Given the description of an element on the screen output the (x, y) to click on. 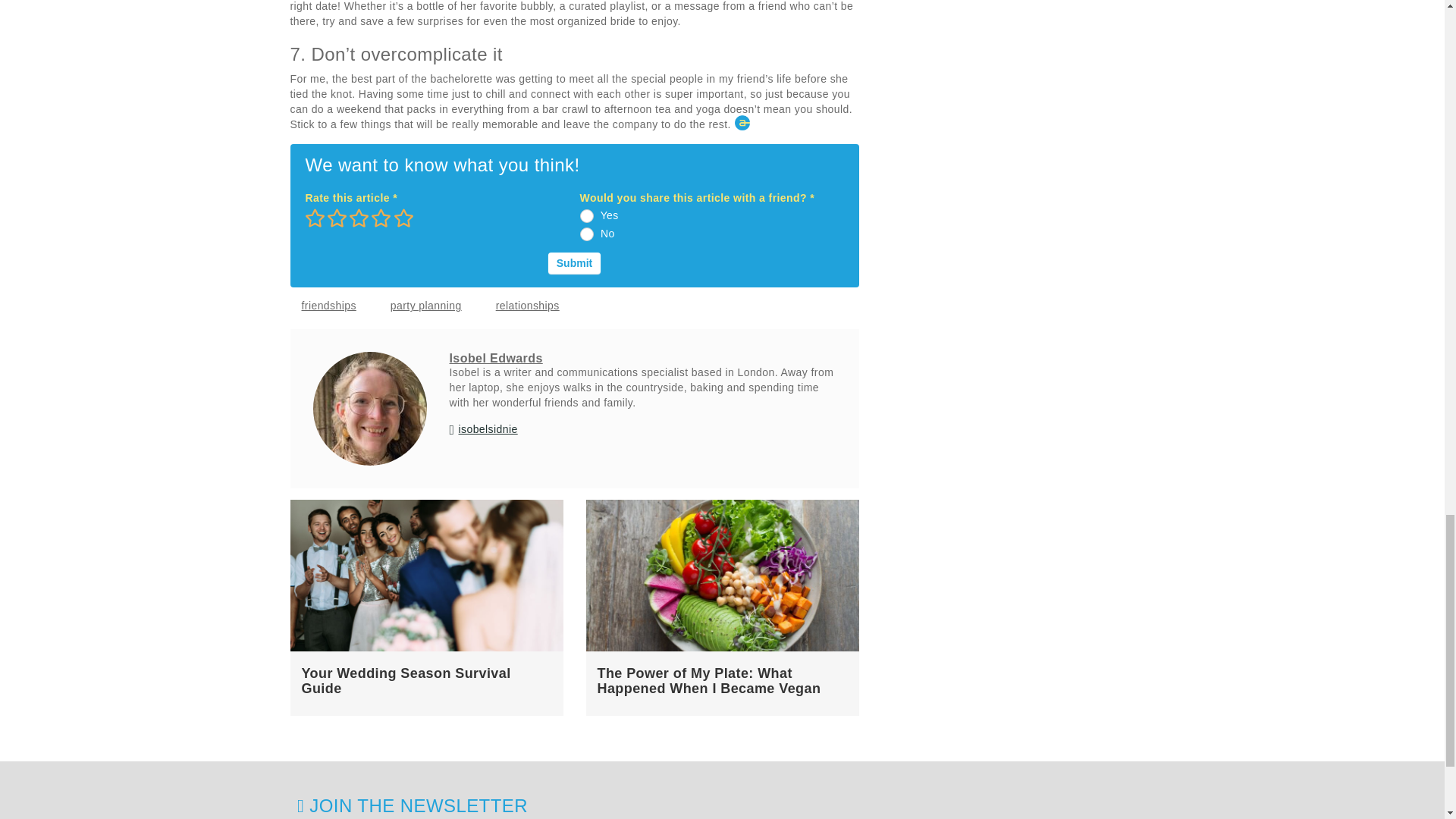
party planning (425, 305)
Your Wedding Season Survival Guide (406, 680)
Submit (573, 262)
relationships (527, 305)
The Power of My Plate: What Happened When I Became Vegan (708, 680)
friendships (327, 305)
No (586, 233)
Isobel Edwards (494, 358)
isobelsidnie (487, 428)
Yes (586, 215)
